Given the description of an element on the screen output the (x, y) to click on. 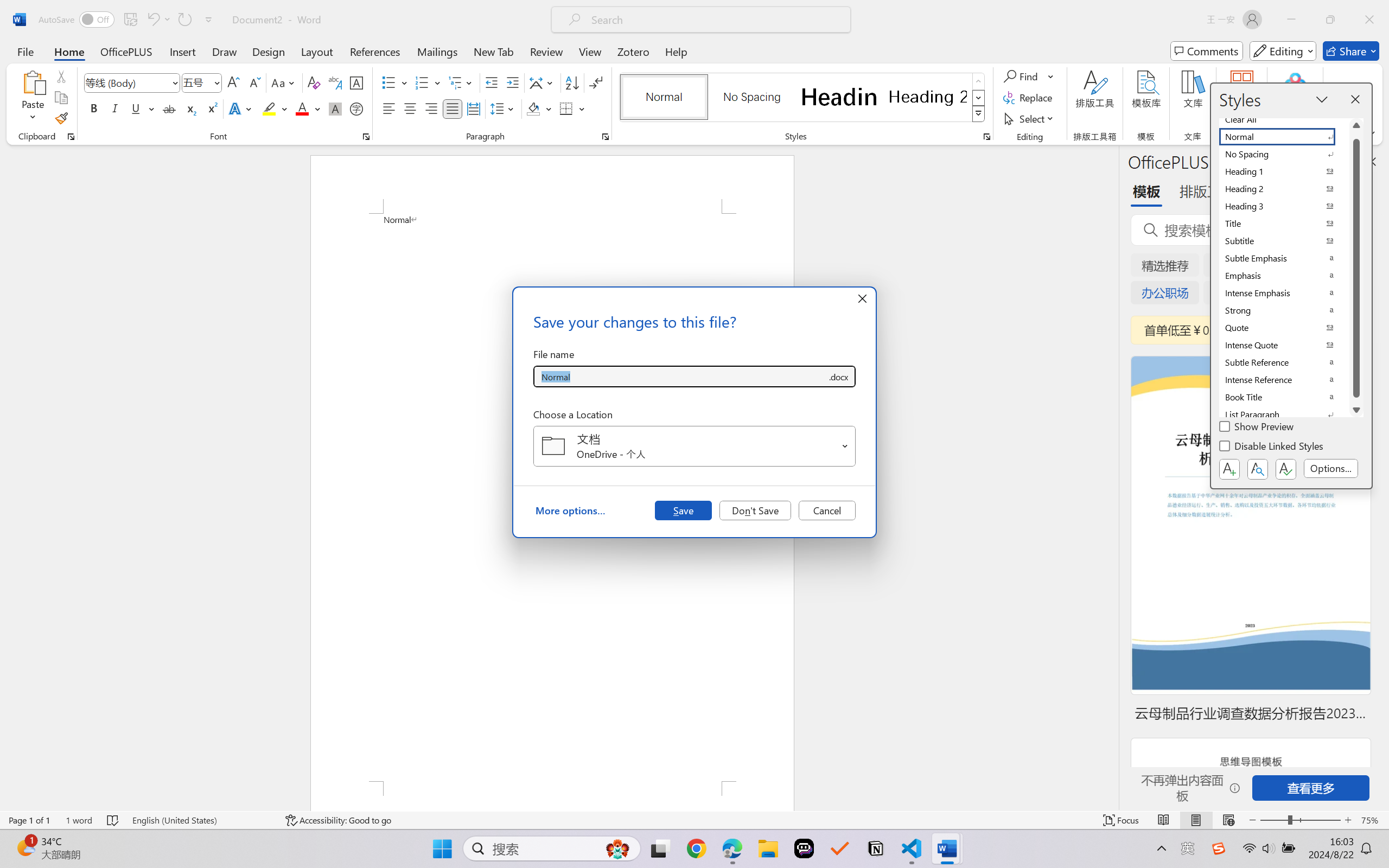
Web Layout (1228, 819)
Underline (135, 108)
New Tab (493, 51)
Copy (60, 97)
Borders (571, 108)
No Spacing (1283, 154)
AutomationID: BadgeAnchorLargeTicker (24, 847)
Page Number Page 1 of 1 (29, 819)
Styles... (986, 136)
Home (69, 51)
